Given the description of an element on the screen output the (x, y) to click on. 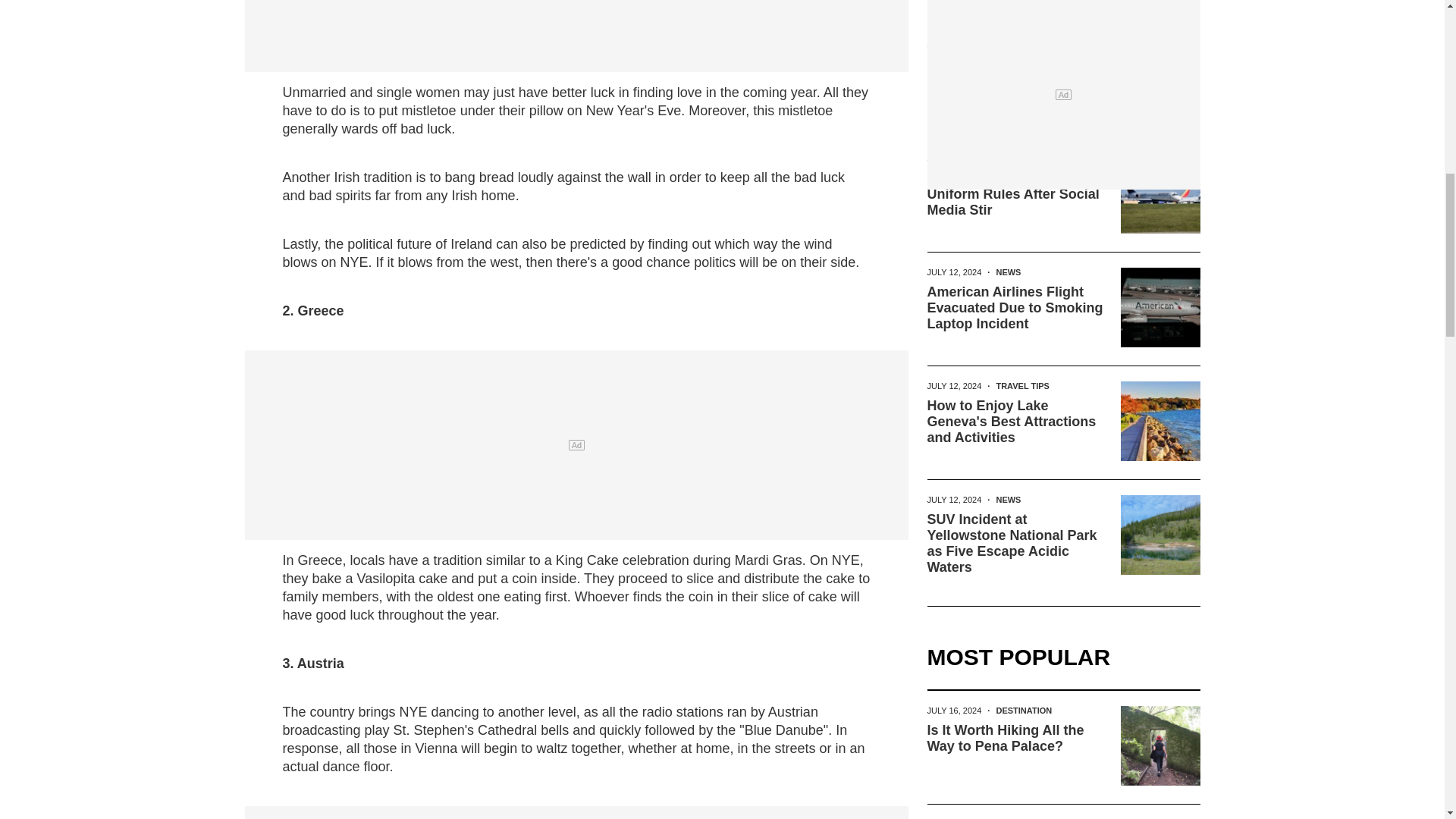
NEWS (1007, 157)
NEWS (1007, 44)
How to Start a Tour Company Cheaply (988, 71)
